Given the description of an element on the screen output the (x, y) to click on. 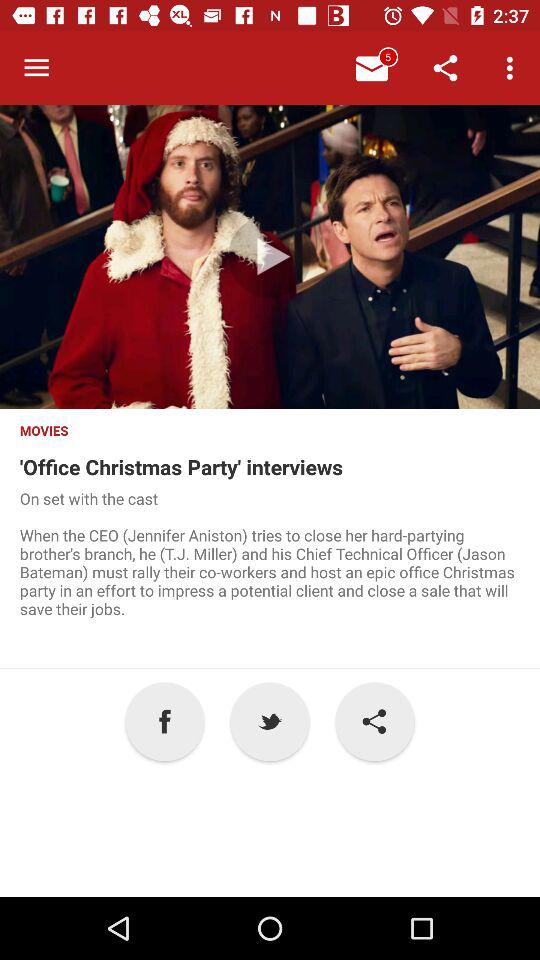
scroll to the on set with (270, 578)
